Given the description of an element on the screen output the (x, y) to click on. 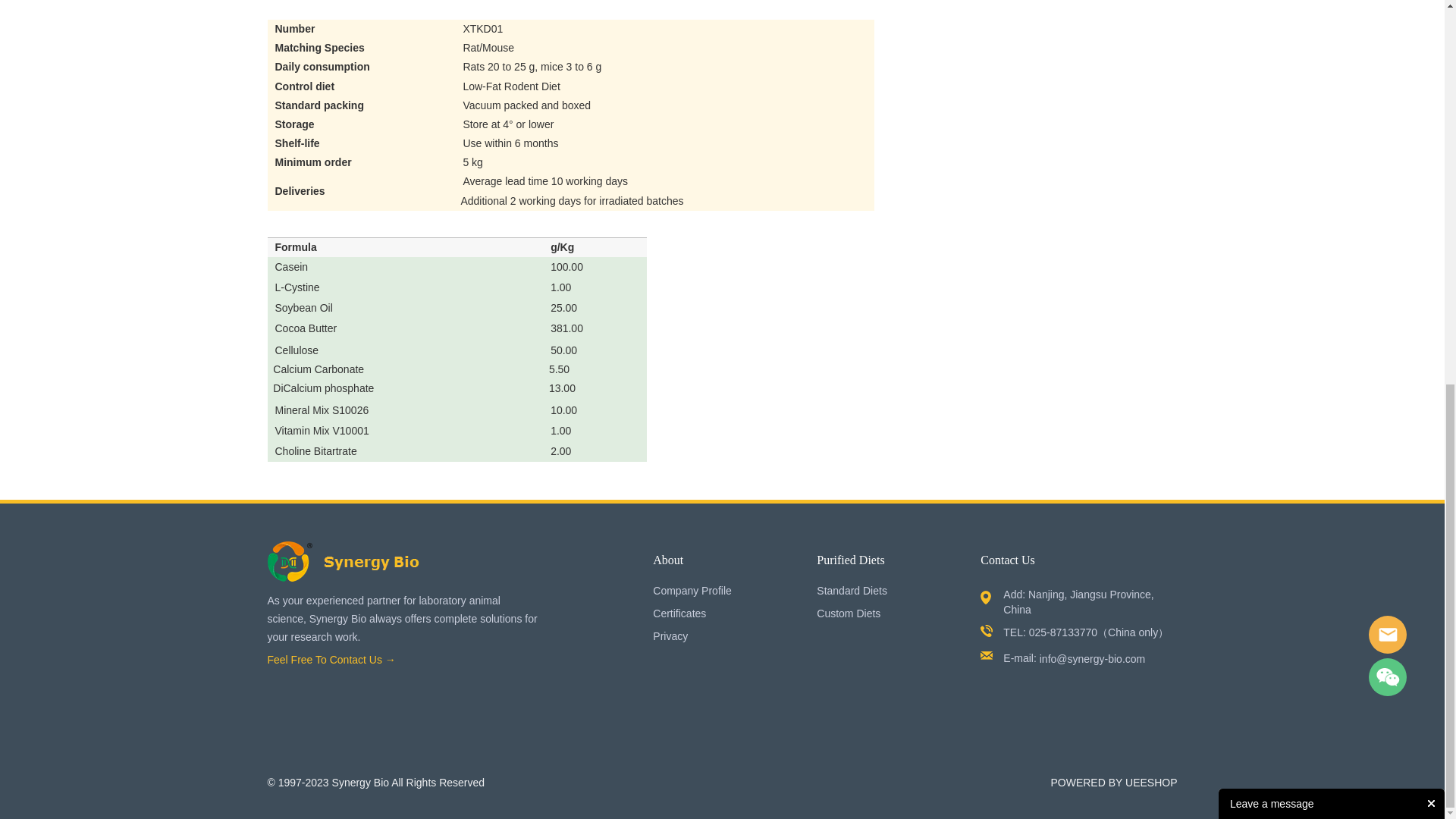
Company Profile (692, 590)
Custom Diets (848, 613)
Standard Diets (851, 590)
Privacy (669, 635)
Certificates (679, 613)
Privacy (669, 635)
Company Profile (692, 590)
Send (1331, 274)
Certificates (679, 613)
